Given the description of an element on the screen output the (x, y) to click on. 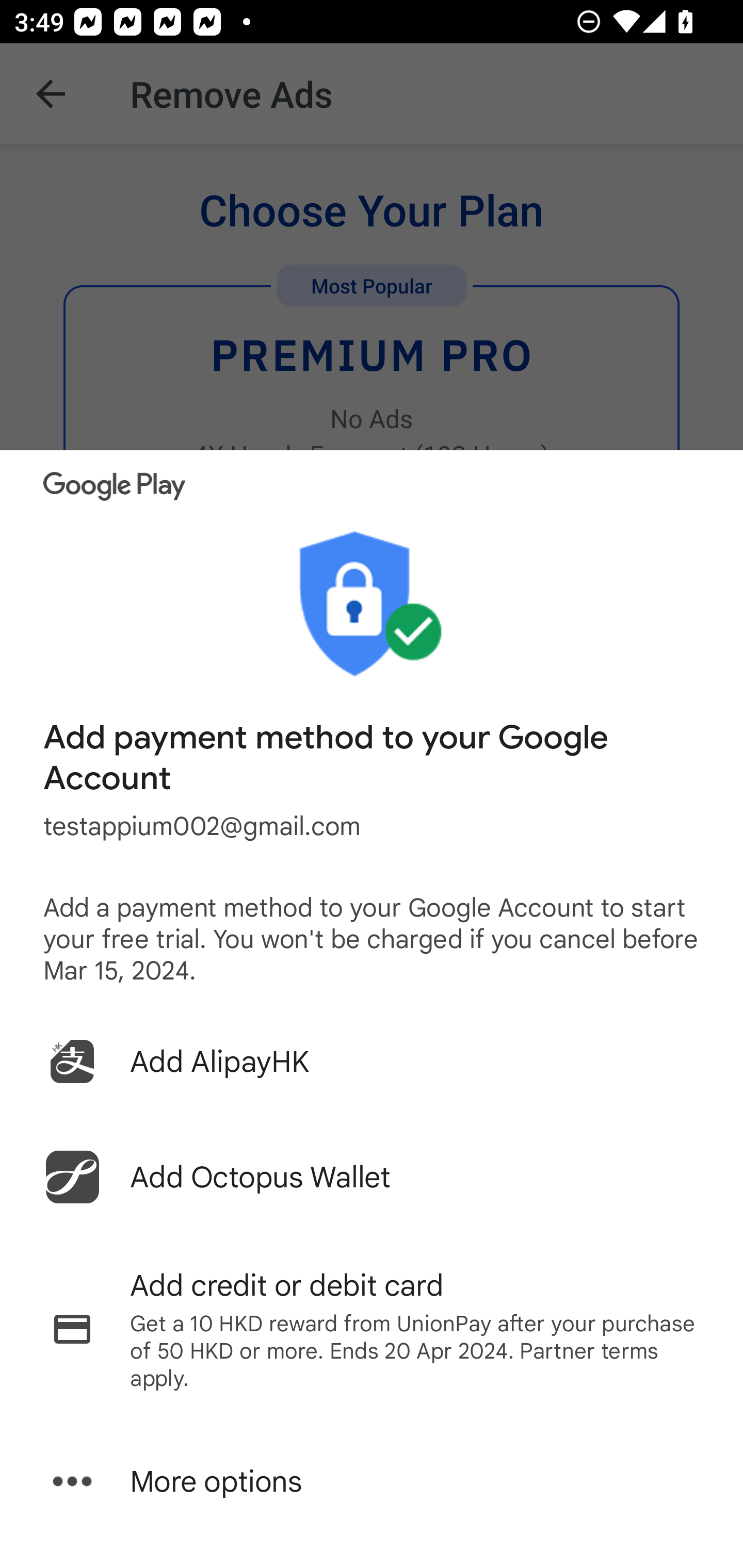
Add AlipayHK (371, 1061)
Add Octopus Wallet (371, 1177)
More options (371, 1481)
